Given the description of an element on the screen output the (x, y) to click on. 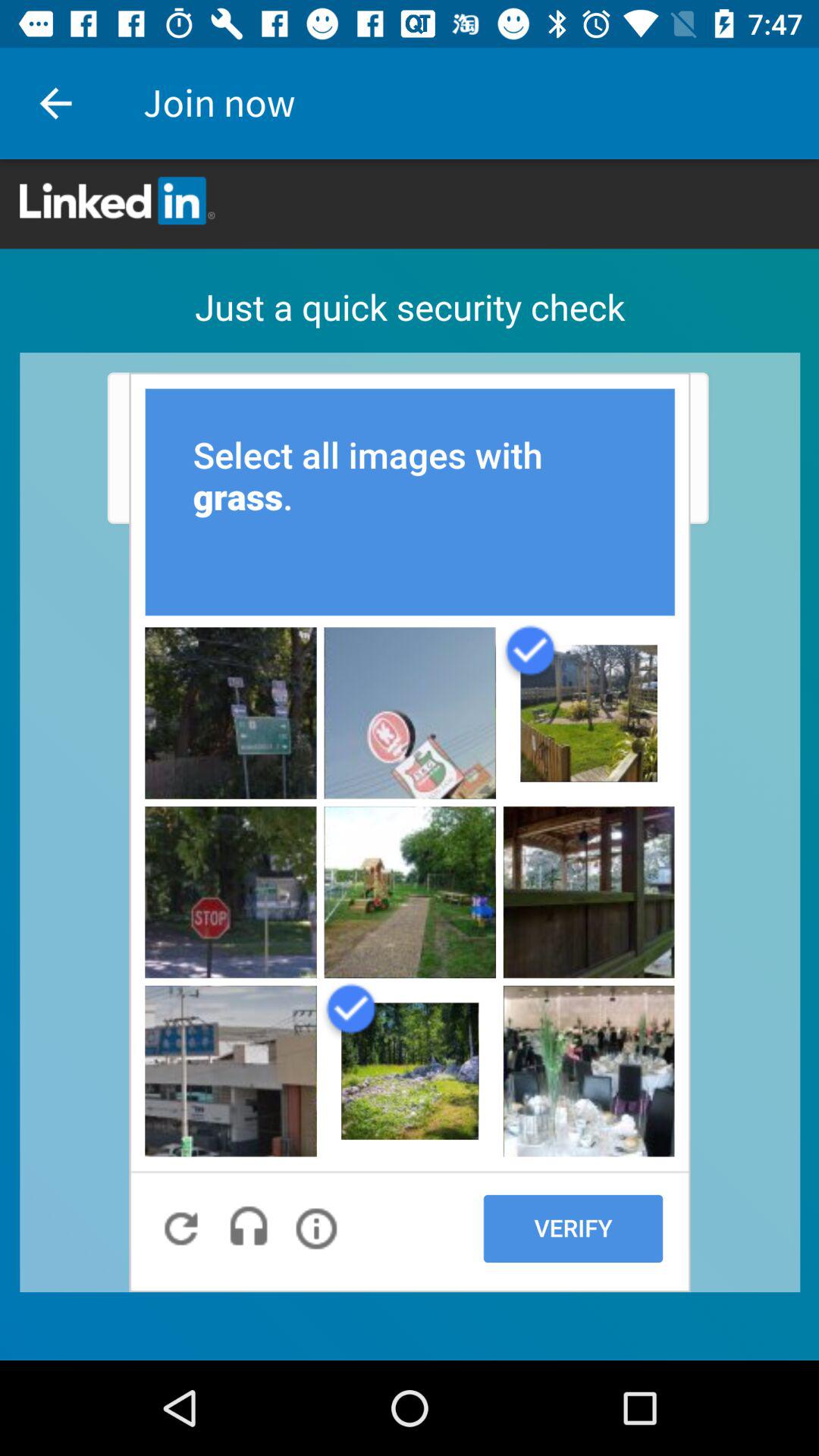
solve captcha (409, 759)
